Given the description of an element on the screen output the (x, y) to click on. 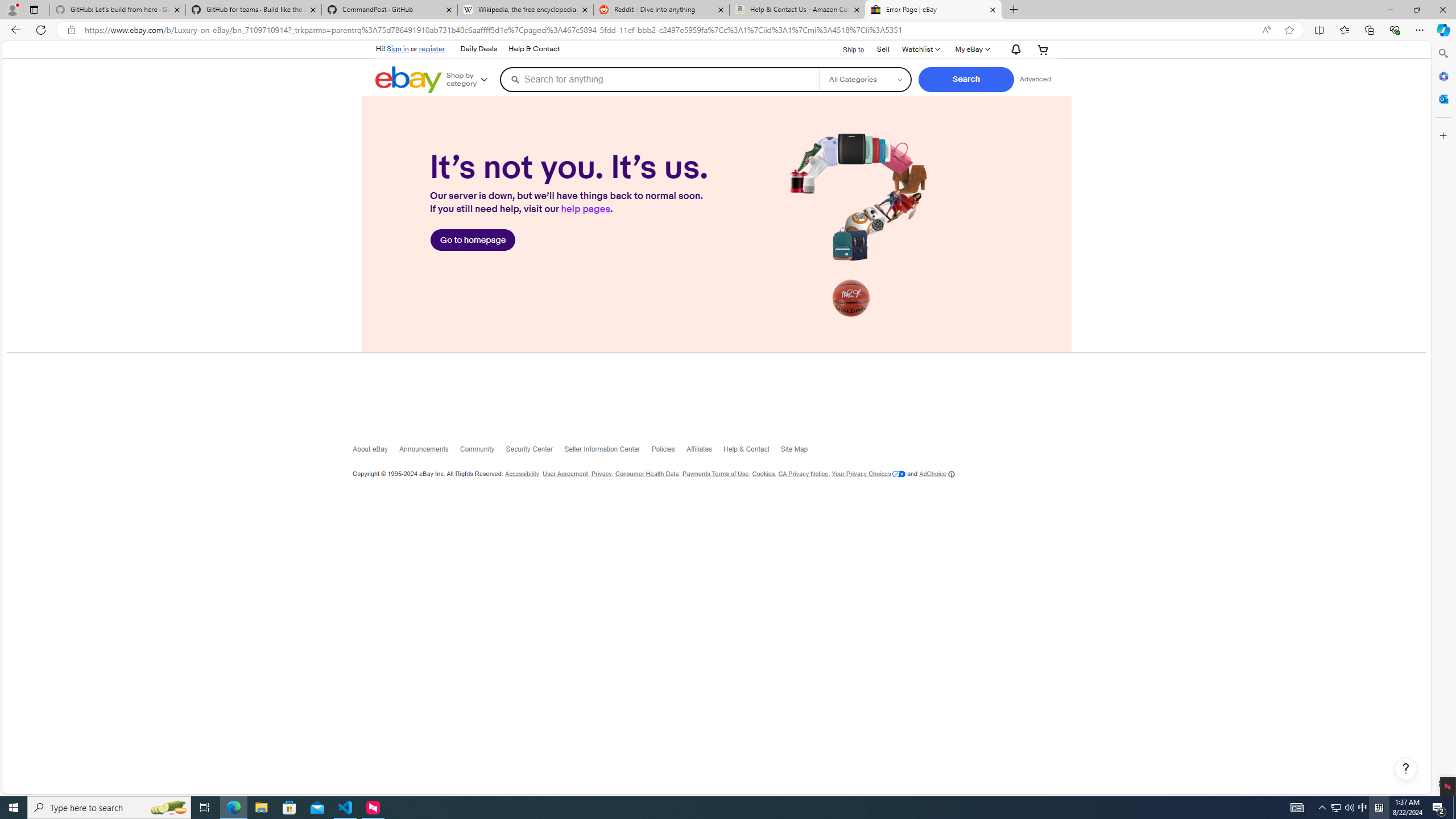
AutomationID: gh-eb-Alerts (1014, 49)
Payments Terms of Use (714, 473)
Help & Contact (751, 451)
Sign in (398, 48)
Consumer Health Data (646, 473)
Ship to (845, 48)
AdChoice (936, 473)
Community (483, 451)
Help & Contact (751, 451)
Seller Information Center (608, 451)
